Given the description of an element on the screen output the (x, y) to click on. 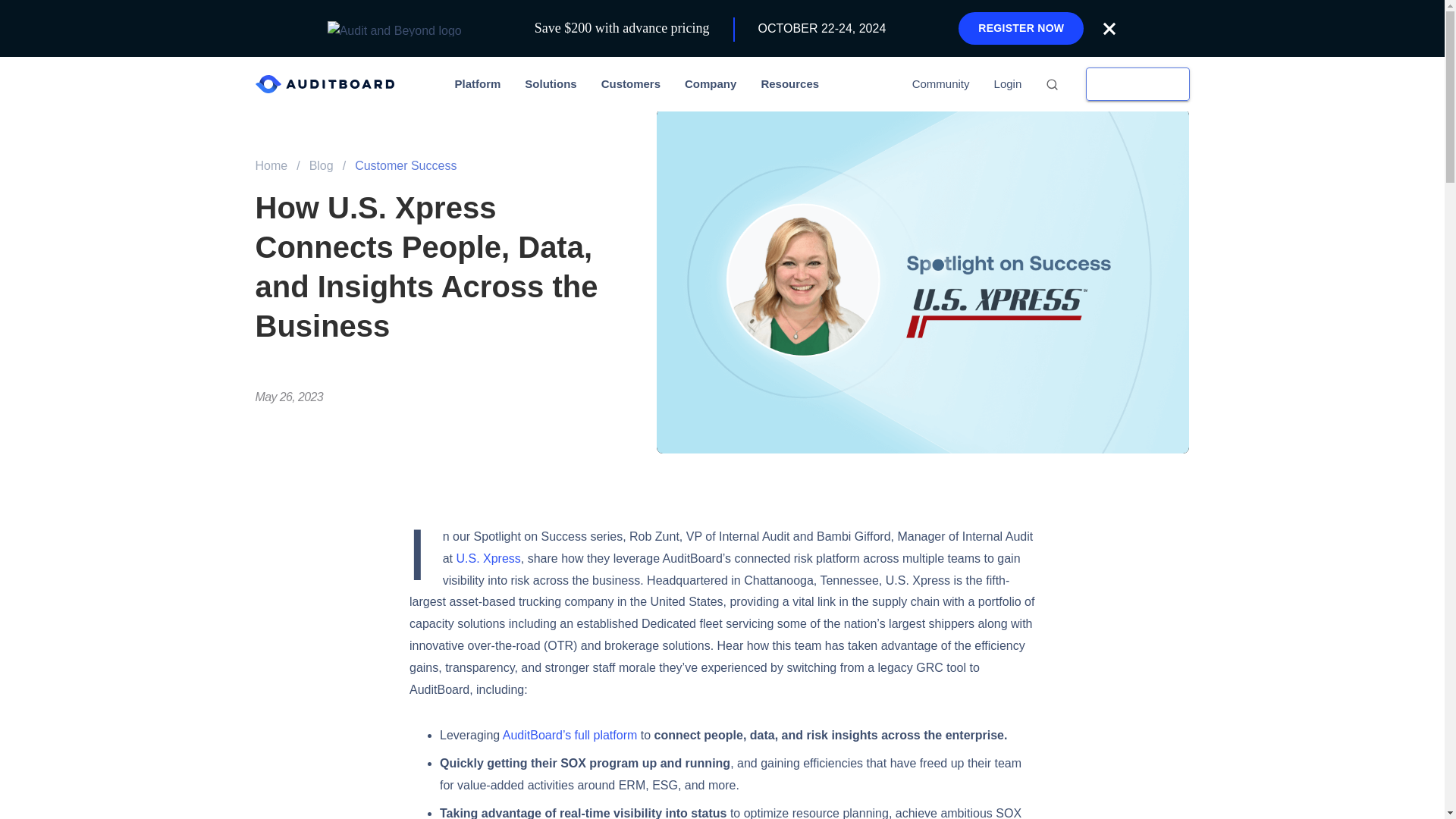
Platform (477, 83)
REGISTER NOW (1020, 28)
Solutions (550, 83)
